Given the description of an element on the screen output the (x, y) to click on. 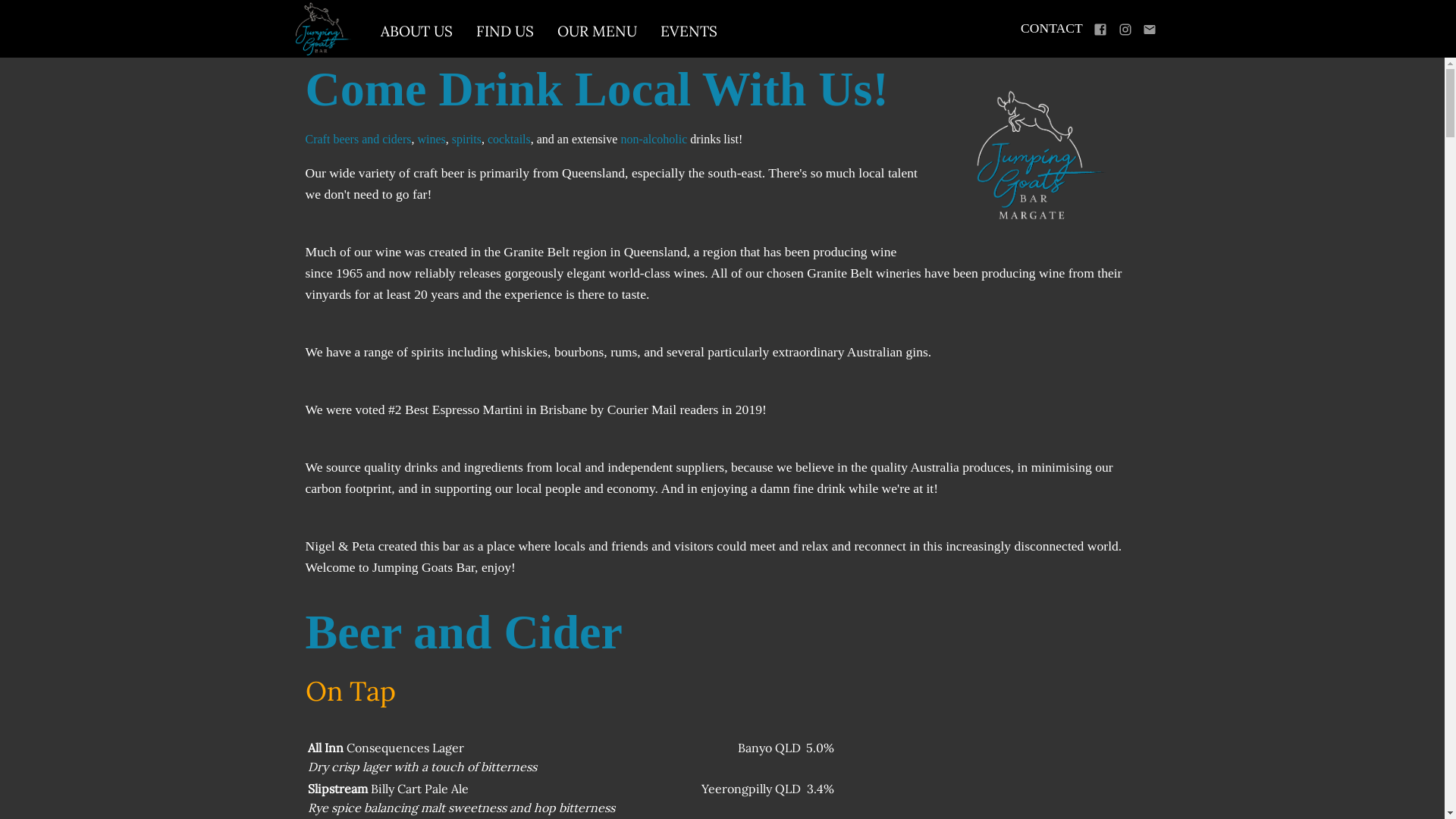
spirits Element type: text (466, 138)
non-alcoholic Element type: text (653, 138)
ABOUT US Element type: text (416, 31)
EVENTS Element type: text (688, 31)
cocktails Element type: text (508, 138)
Craft beers and ciders Element type: text (357, 138)
OUR MENU Element type: text (596, 31)
wines Element type: text (431, 138)
FIND US Element type: text (504, 31)
CONTACT Element type: text (1051, 27)
